Given the description of an element on the screen output the (x, y) to click on. 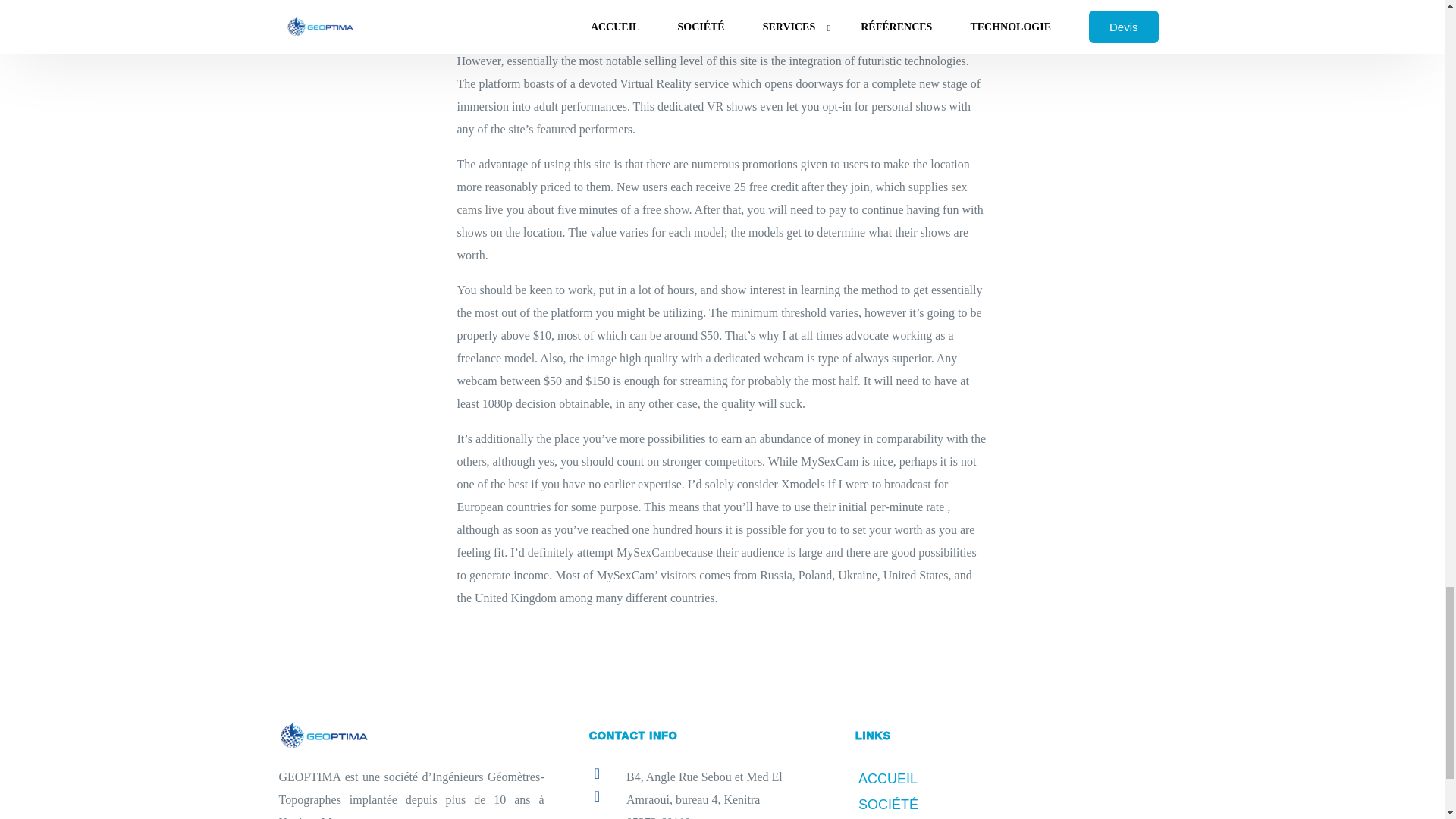
sex cams live (711, 198)
ACCUEIL (929, 778)
SERVICES (929, 818)
